Given the description of an element on the screen output the (x, y) to click on. 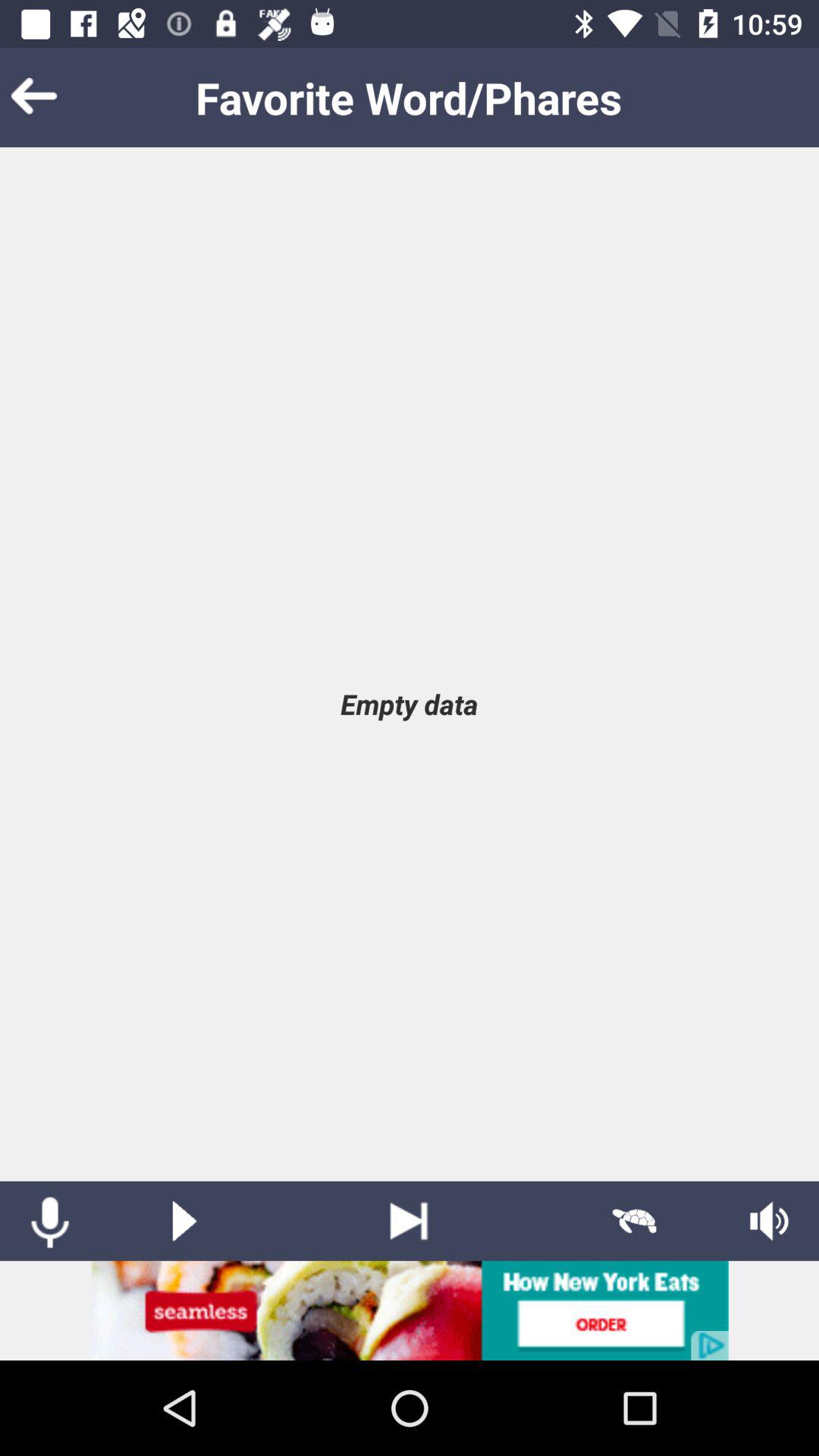
forward play (408, 1220)
